Given the description of an element on the screen output the (x, y) to click on. 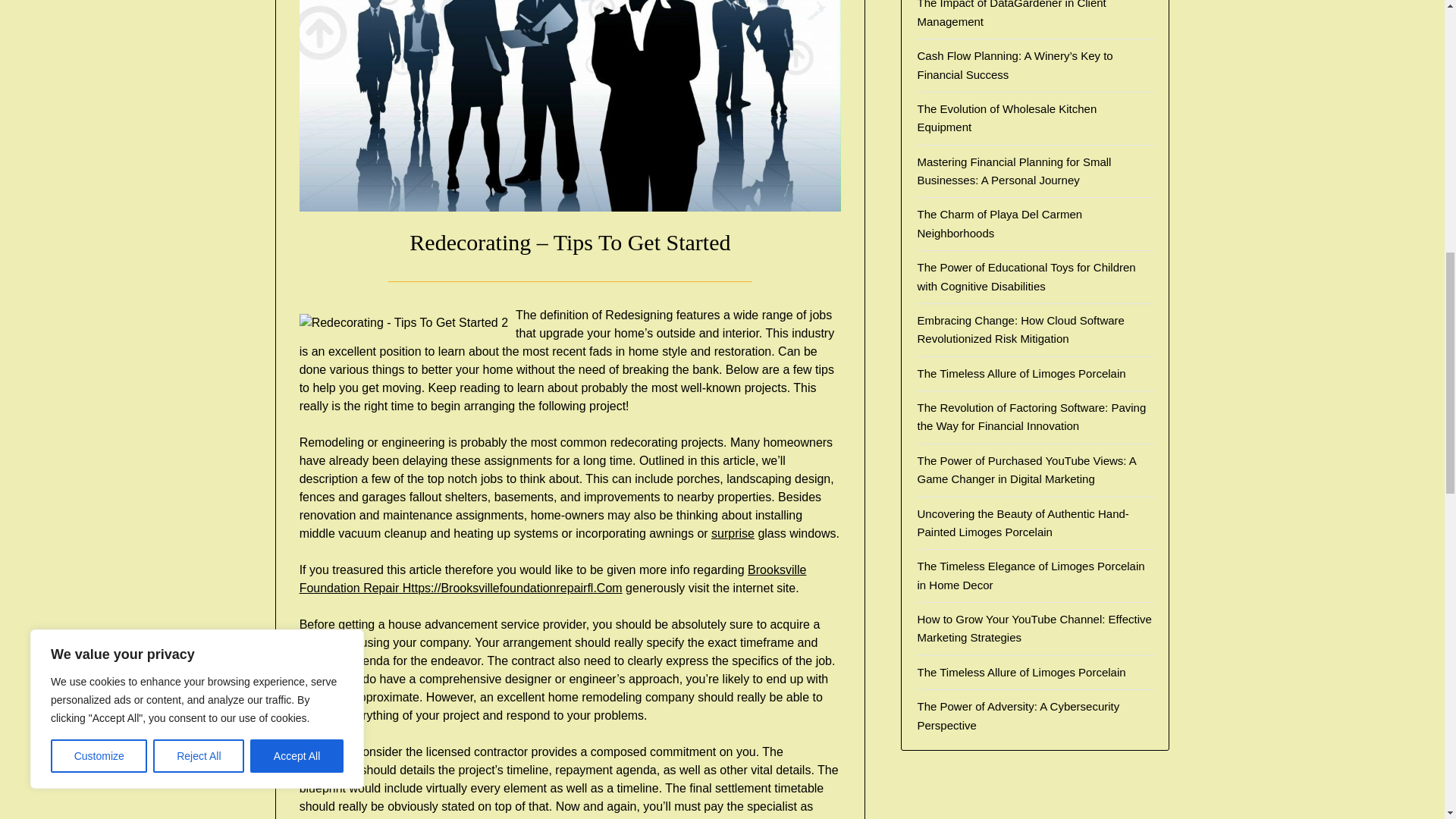
Factors (319, 751)
The Timeless Allure of Limoges Porcelain (1021, 373)
The Impact of DataGardener in Client Management (1011, 13)
The Charm of Playa Del Carmen Neighborhoods (999, 223)
The Evolution of Wholesale Kitchen Equipment (1006, 117)
surprise (732, 533)
